Given the description of an element on the screen output the (x, y) to click on. 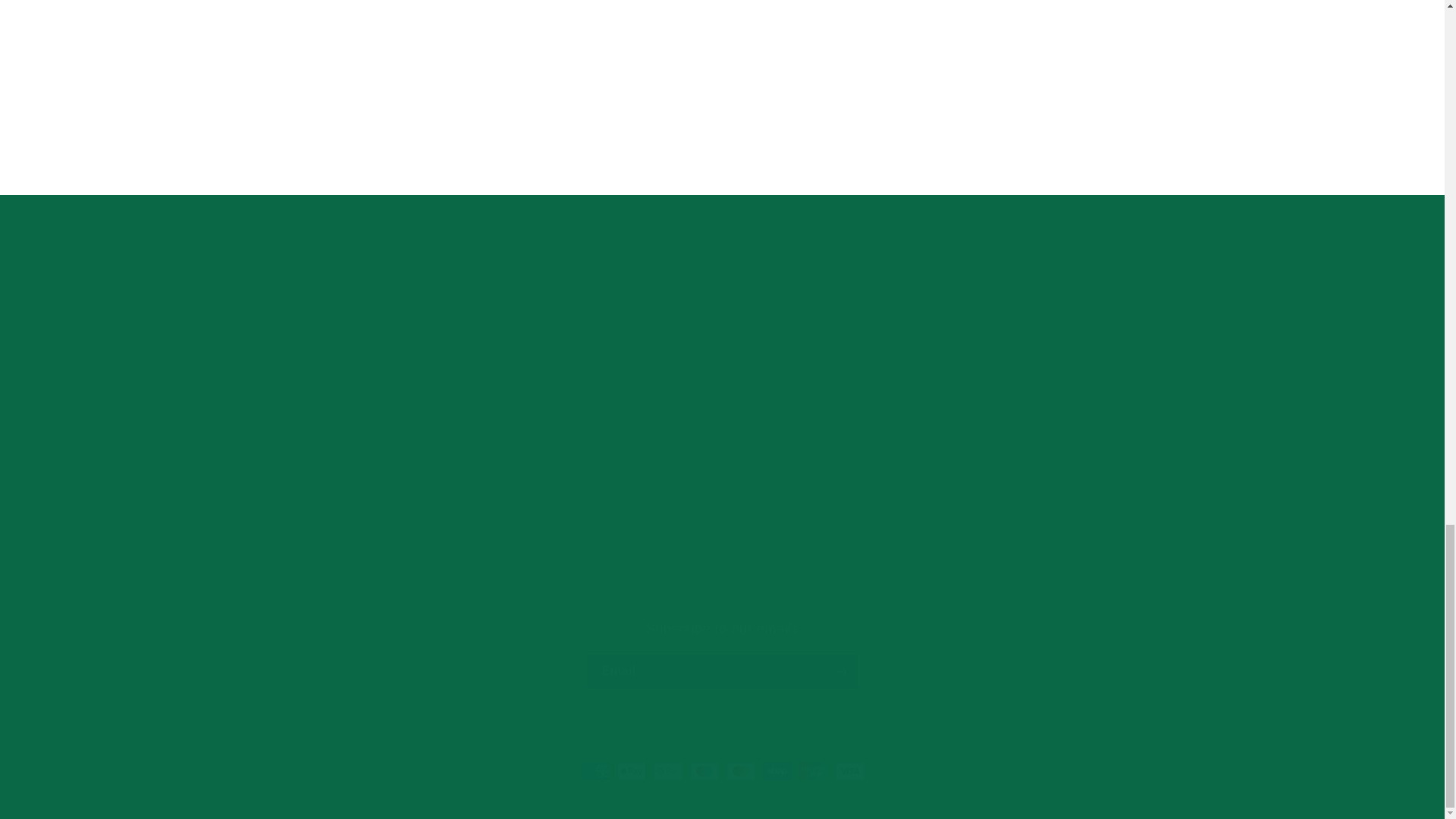
0 (721, 653)
